Given the description of an element on the screen output the (x, y) to click on. 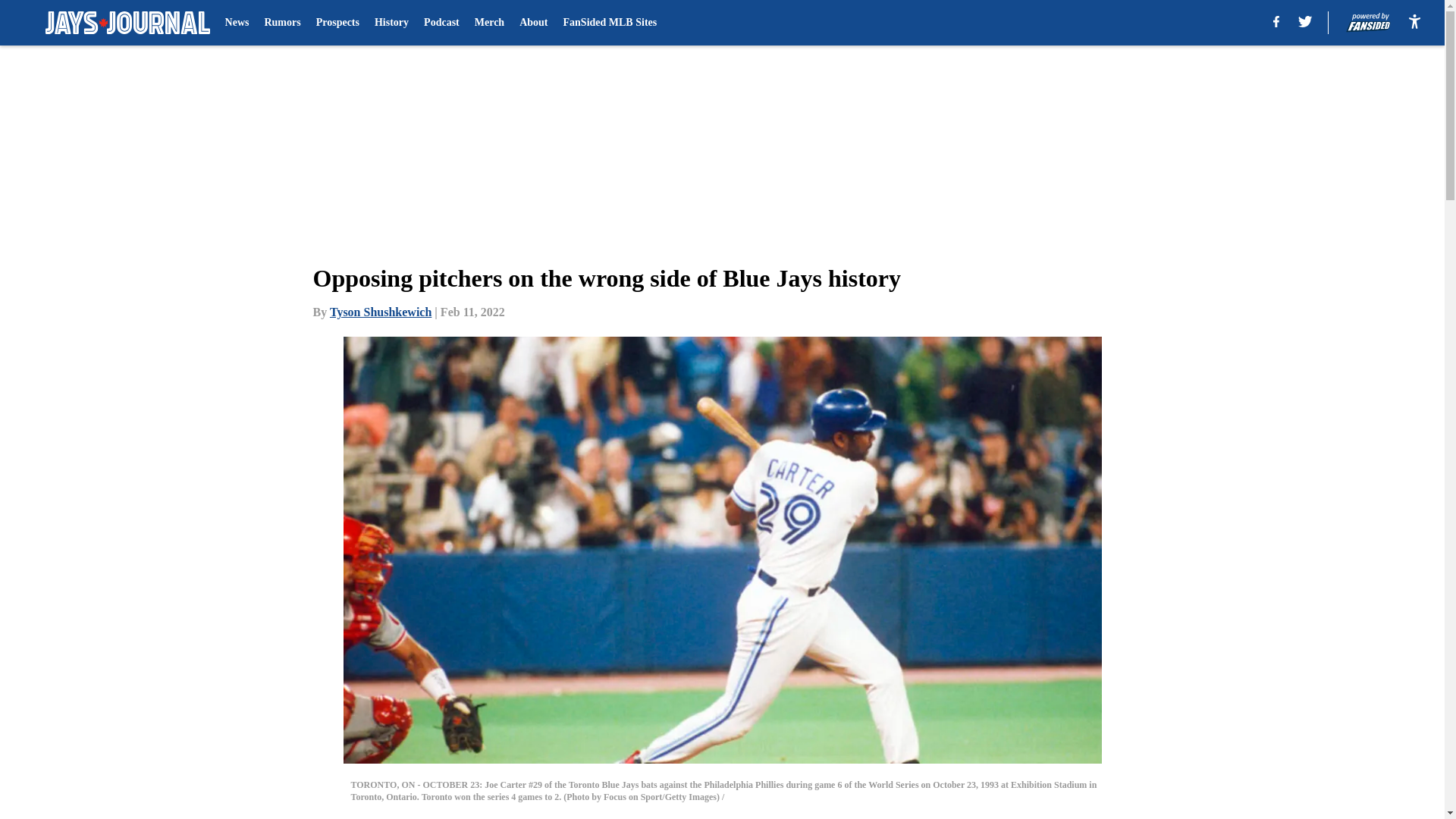
About (533, 22)
Rumors (281, 22)
Tyson Shushkewich (380, 311)
History (391, 22)
Podcast (441, 22)
FanSided MLB Sites (610, 22)
Merch (488, 22)
News (236, 22)
Prospects (337, 22)
